Given the description of an element on the screen output the (x, y) to click on. 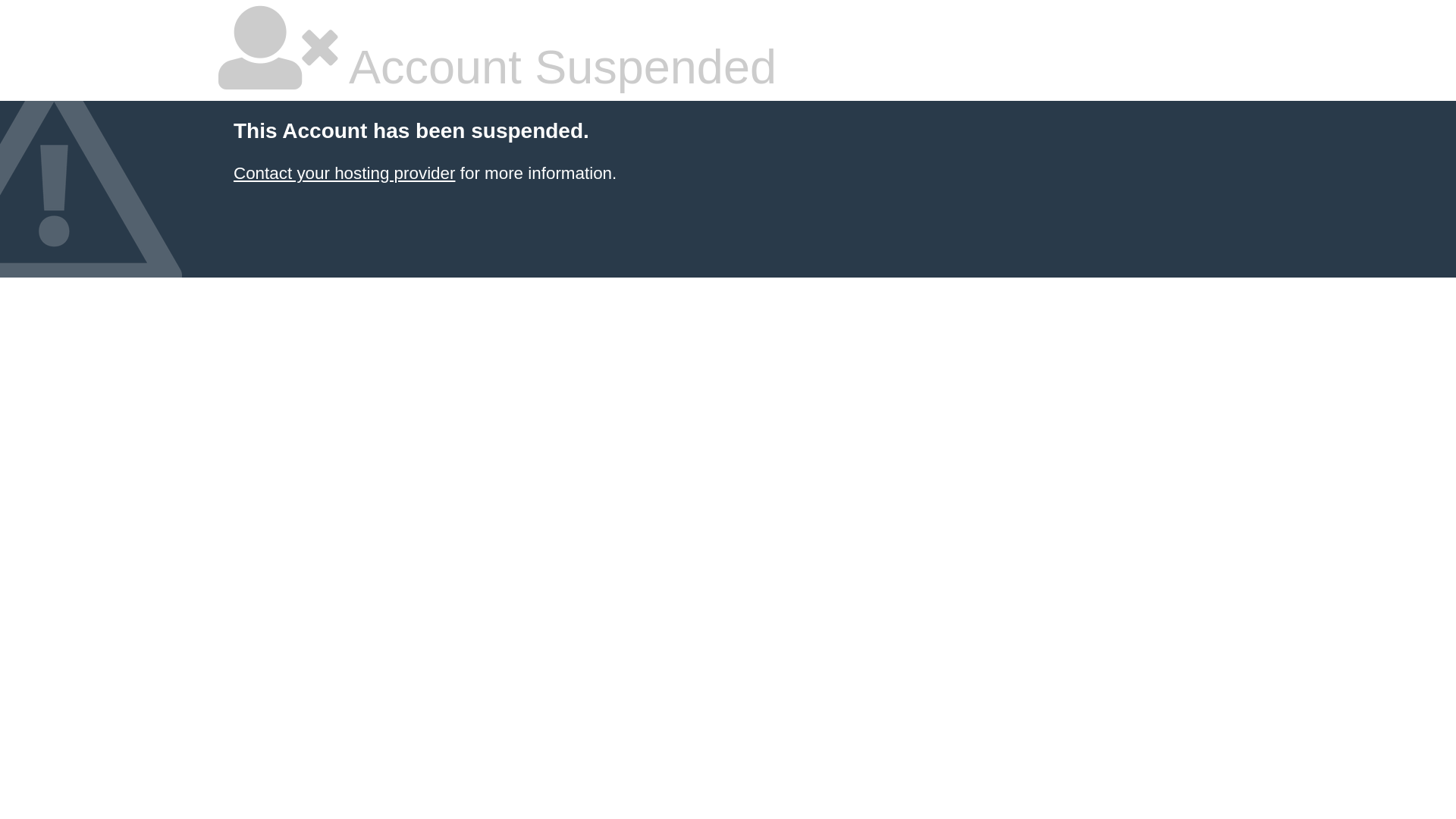
Contact your hosting provider Element type: text (344, 172)
